Given the description of an element on the screen output the (x, y) to click on. 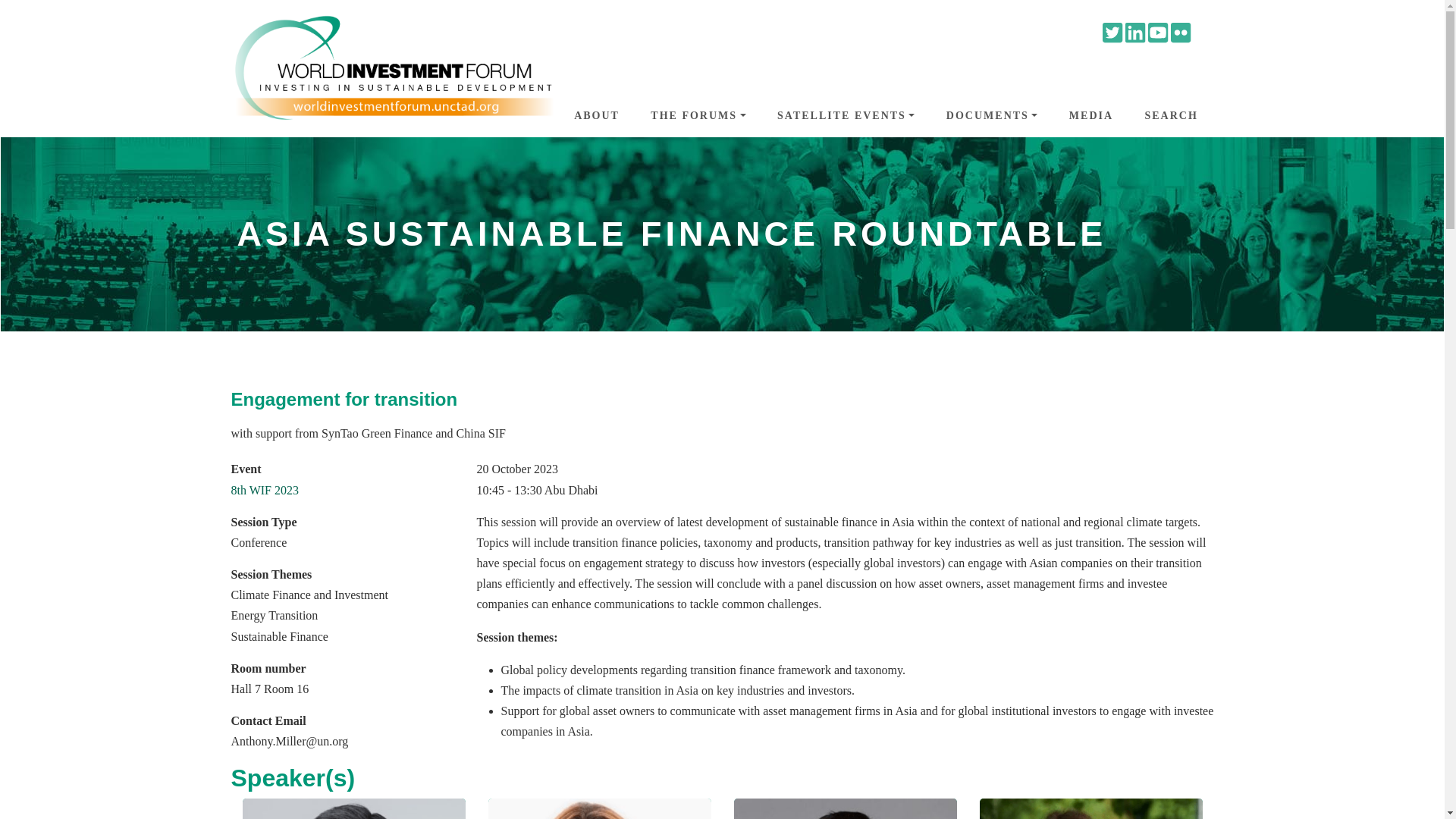
ABOUT (595, 116)
SEARCH (1170, 116)
Youtube icon (1157, 36)
Flickr icon (1180, 36)
Twitter icon (1112, 36)
MEDIA (1091, 116)
DOCUMENTS (992, 116)
8th WIF 2023 (264, 490)
THE FORUMS (697, 116)
SATELLITE EVENTS (845, 116)
